Given the description of an element on the screen output the (x, y) to click on. 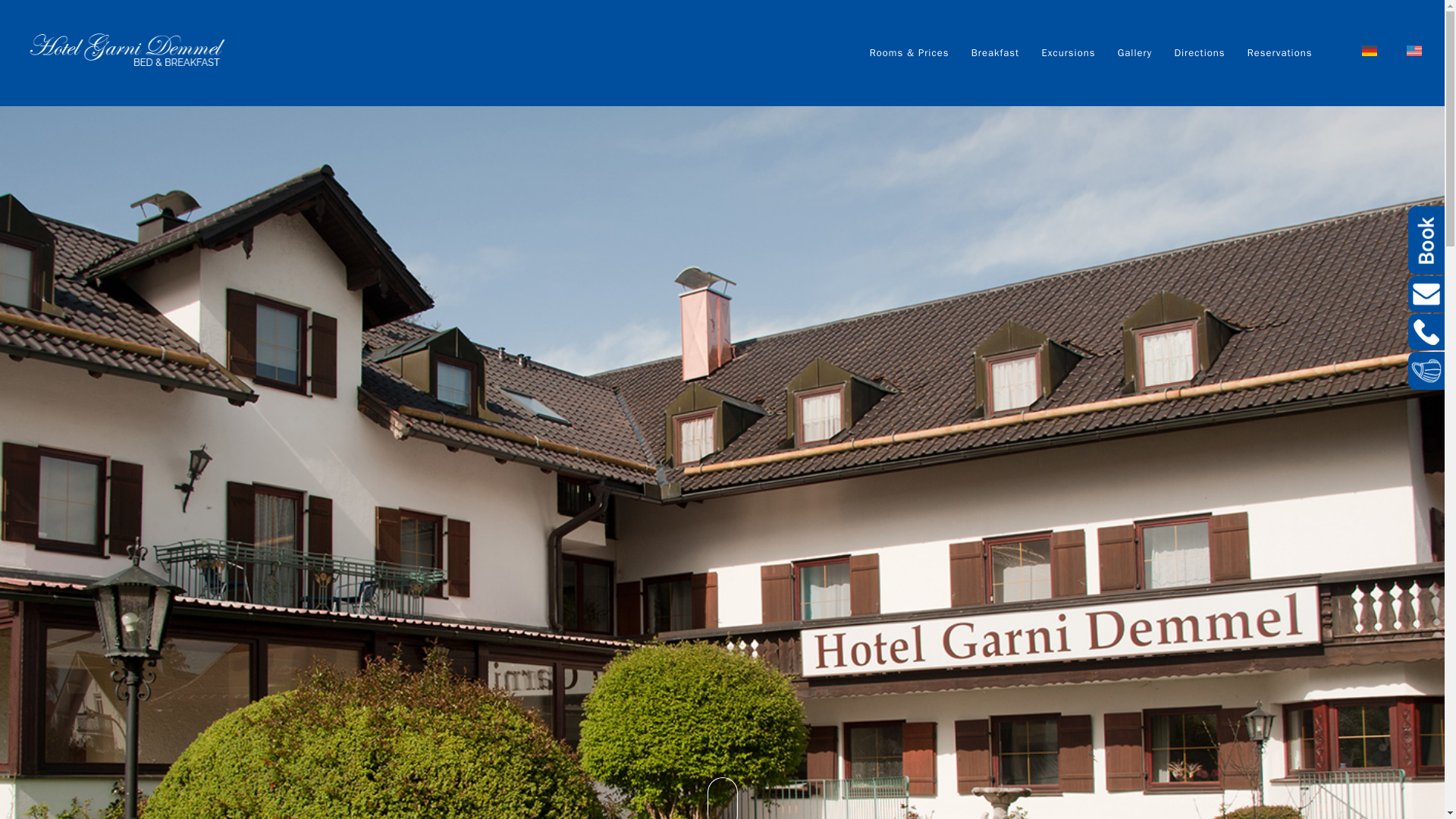
Breakfast (995, 53)
Reservations (1280, 53)
Open Cookie Preferences (32, 799)
Gallery (1134, 53)
Excursions (1067, 53)
Directions (1198, 53)
